Given the description of an element on the screen output the (x, y) to click on. 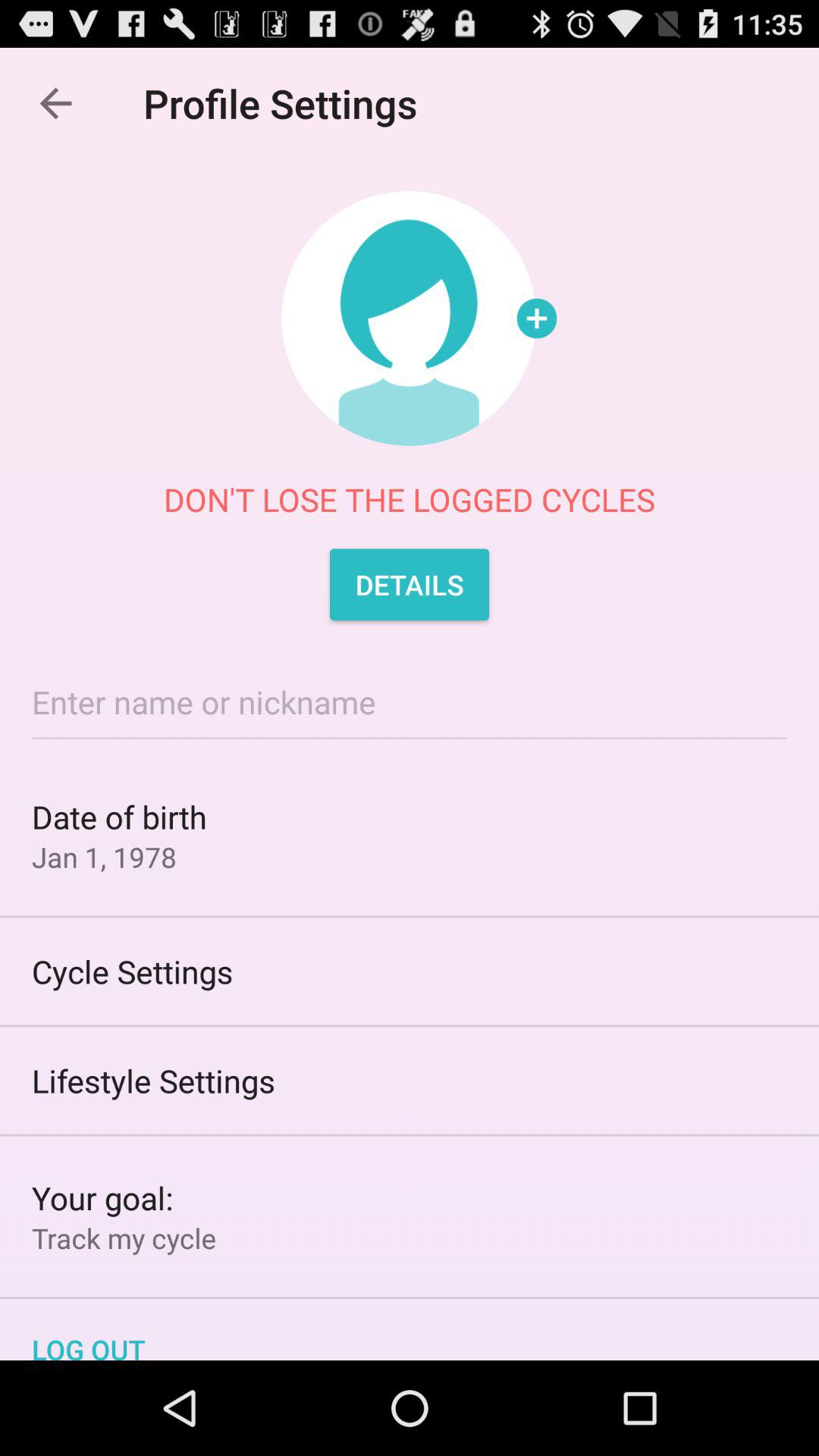
swipe to log out (409, 1329)
